Given the description of an element on the screen output the (x, y) to click on. 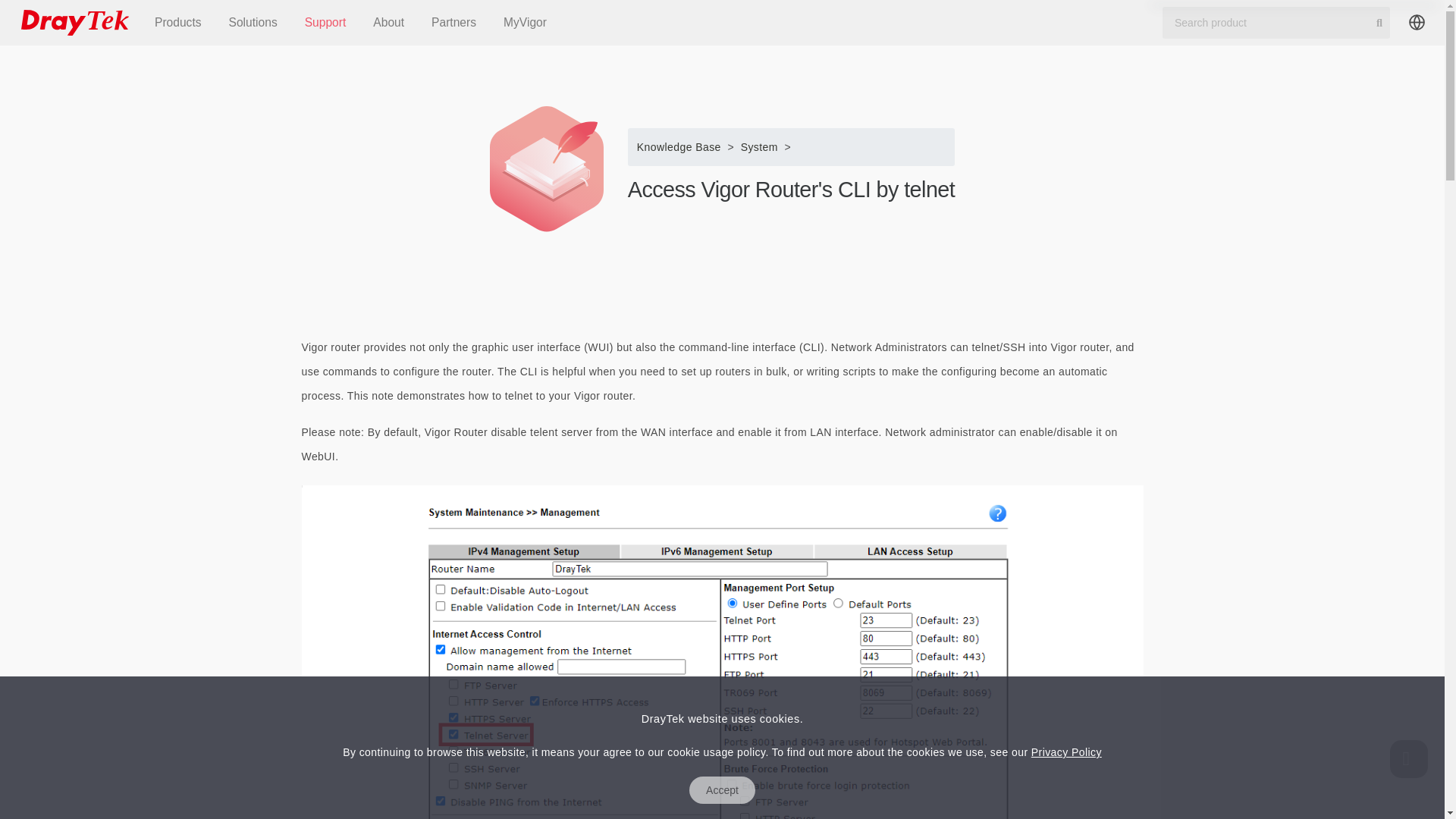
Products (178, 22)
Solutions (253, 22)
